Given the description of an element on the screen output the (x, y) to click on. 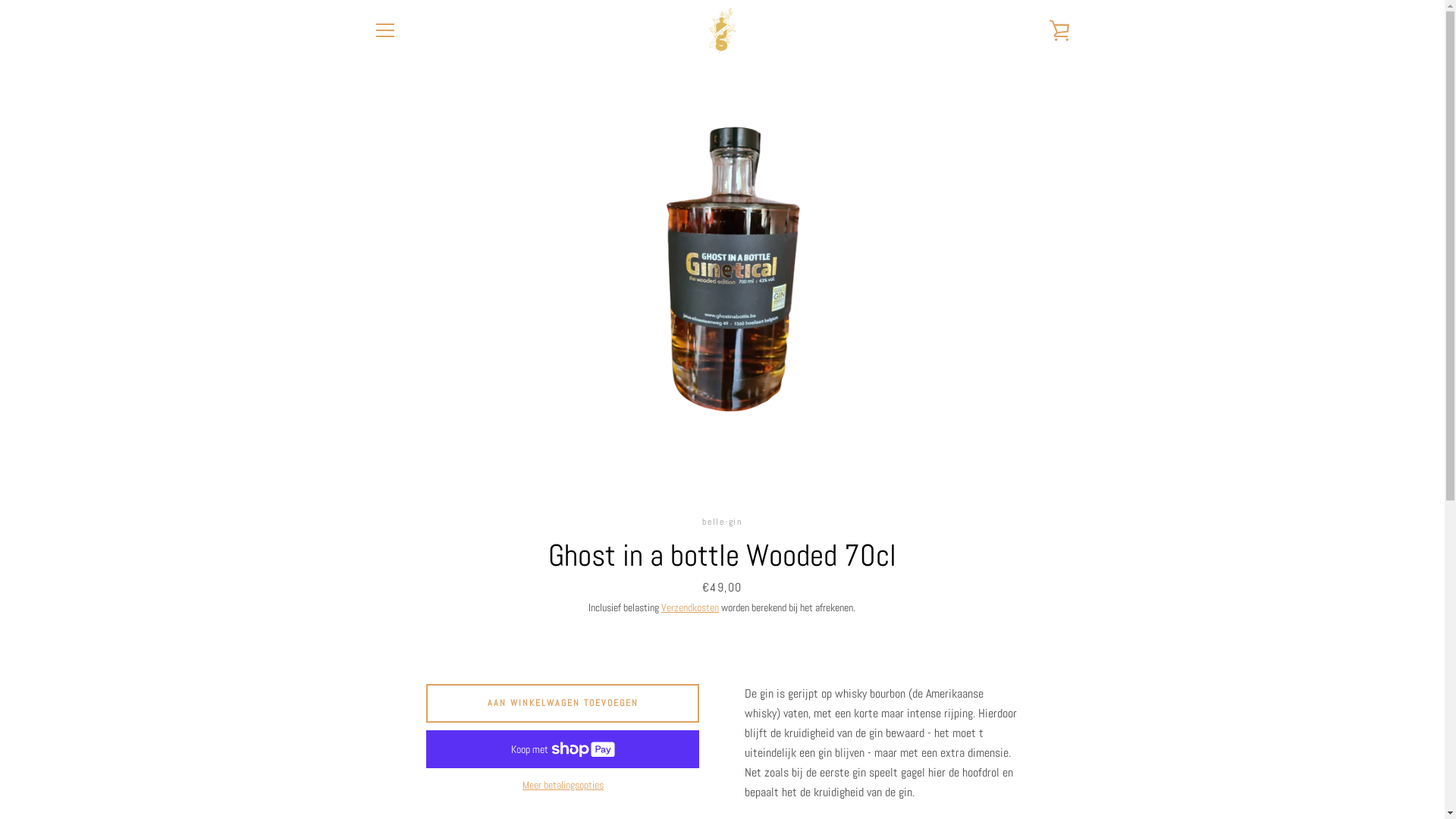
WETTELIJKE BEPALINGEN Element type: text (425, 608)
Verzendkosten Element type: text (689, 607)
WINKELWAGEN BEKIJKEN Element type: text (1059, 30)
ABONNEREN Element type: text (1034, 677)
MENU Element type: text (384, 30)
Facebook Element type: text (372, 765)
AAN WINKELWAGEN TOEVOEGEN Element type: text (562, 702)
Meteen naar de content Element type: text (0, 0)
TERUGBETALINGEN Element type: text (411, 652)
belle-gin Element type: text (730, 765)
ALGEMENE VOORWAARDEN Element type: text (427, 697)
PRIVACY BELEID Element type: text (406, 630)
VERZENDBELEID Element type: text (407, 674)
Meer betalingsopties Element type: text (562, 785)
